Given the description of an element on the screen output the (x, y) to click on. 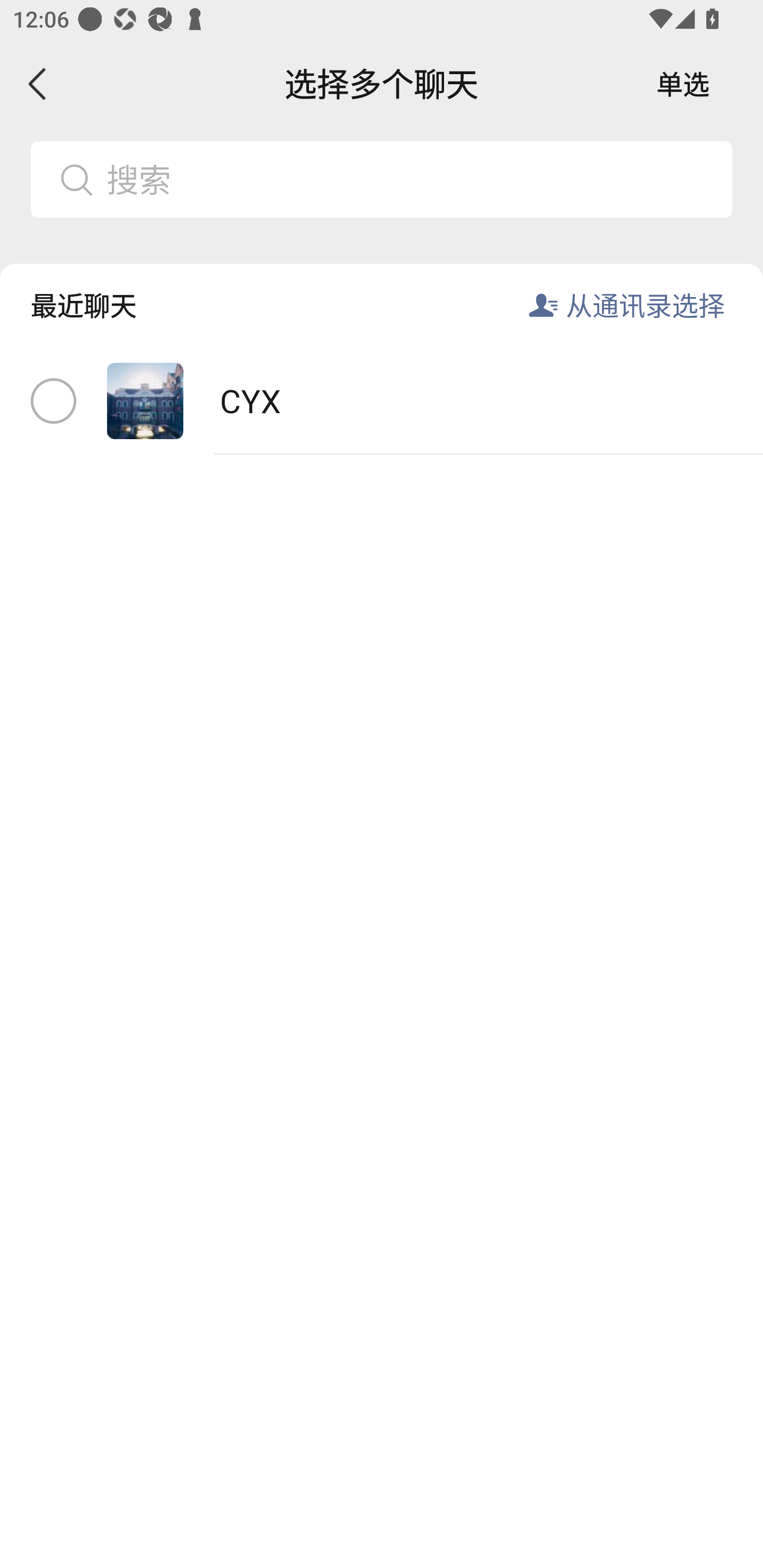
返回 (38, 83)
单选 (683, 83)
搜索 (381, 179)
搜索 (411, 179)
最近聊天 从通讯录选择 (381, 290)
从通讯录选择 (645, 304)
CYX (381, 401)
